Given the description of an element on the screen output the (x, y) to click on. 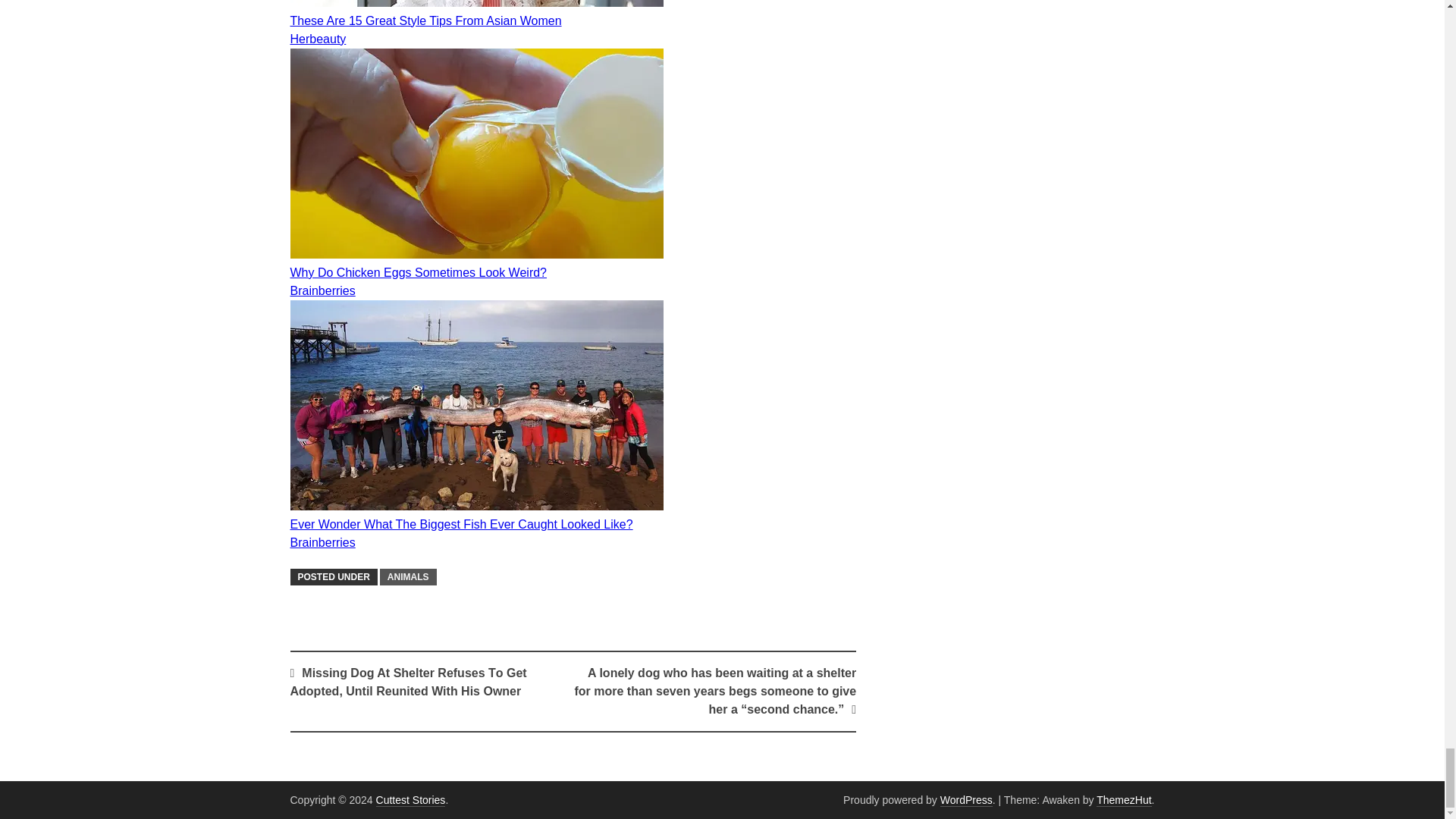
WordPress (966, 799)
Cuttest Stories (410, 799)
ANIMALS (408, 576)
ThemezHut (1123, 799)
WordPress (966, 799)
Cuttest Stories (410, 799)
